Given the description of an element on the screen output the (x, y) to click on. 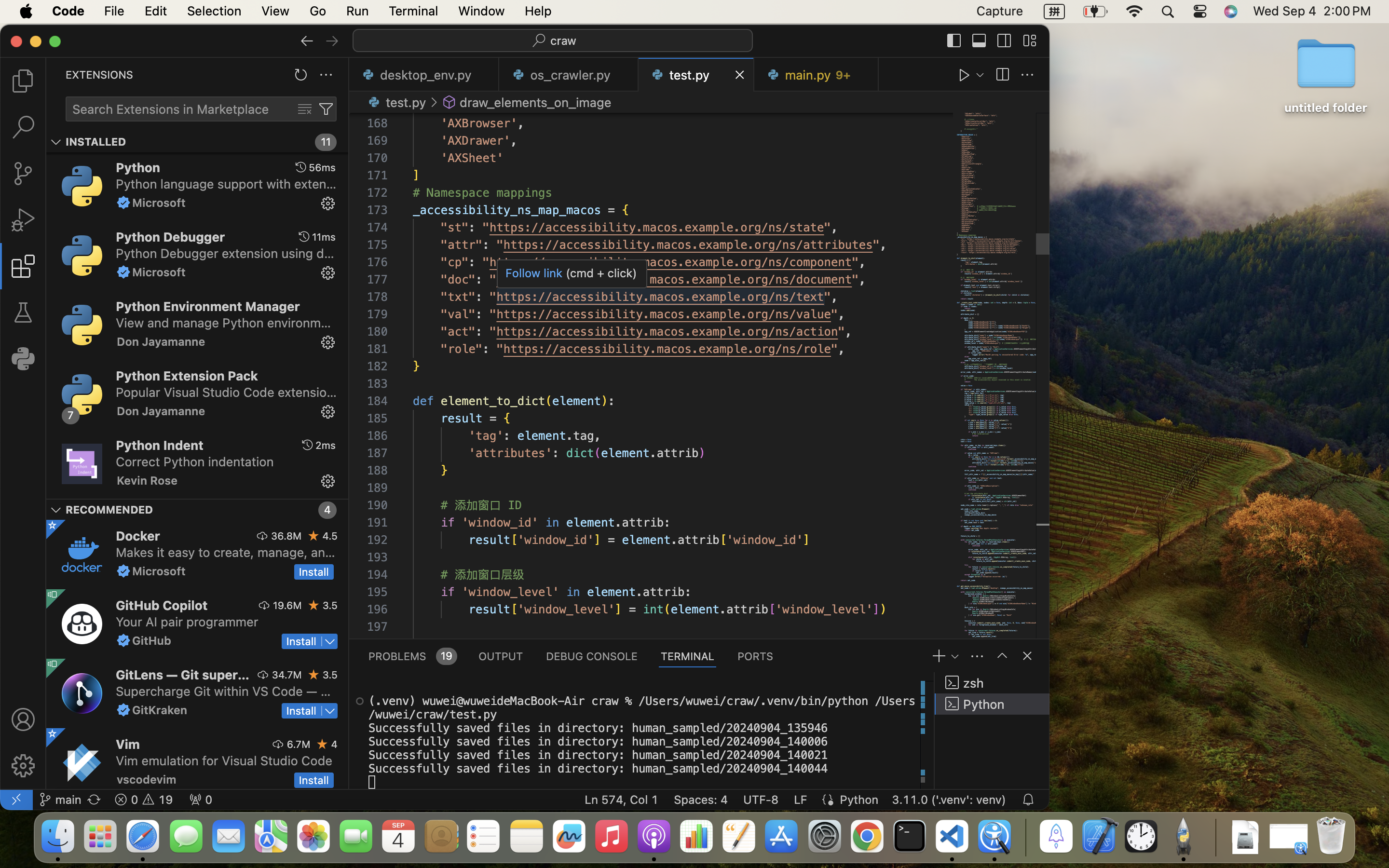
 Element type: AXGroup (23, 127)
36.8M Element type: AXStaticText (286, 535)
0 PORTS Element type: AXRadioButton (755, 655)
1 TERMINAL Element type: AXRadioButton (687, 655)
Python Debugger extension using debugpy. Element type: AXStaticText (224, 252)
